Given the description of an element on the screen output the (x, y) to click on. 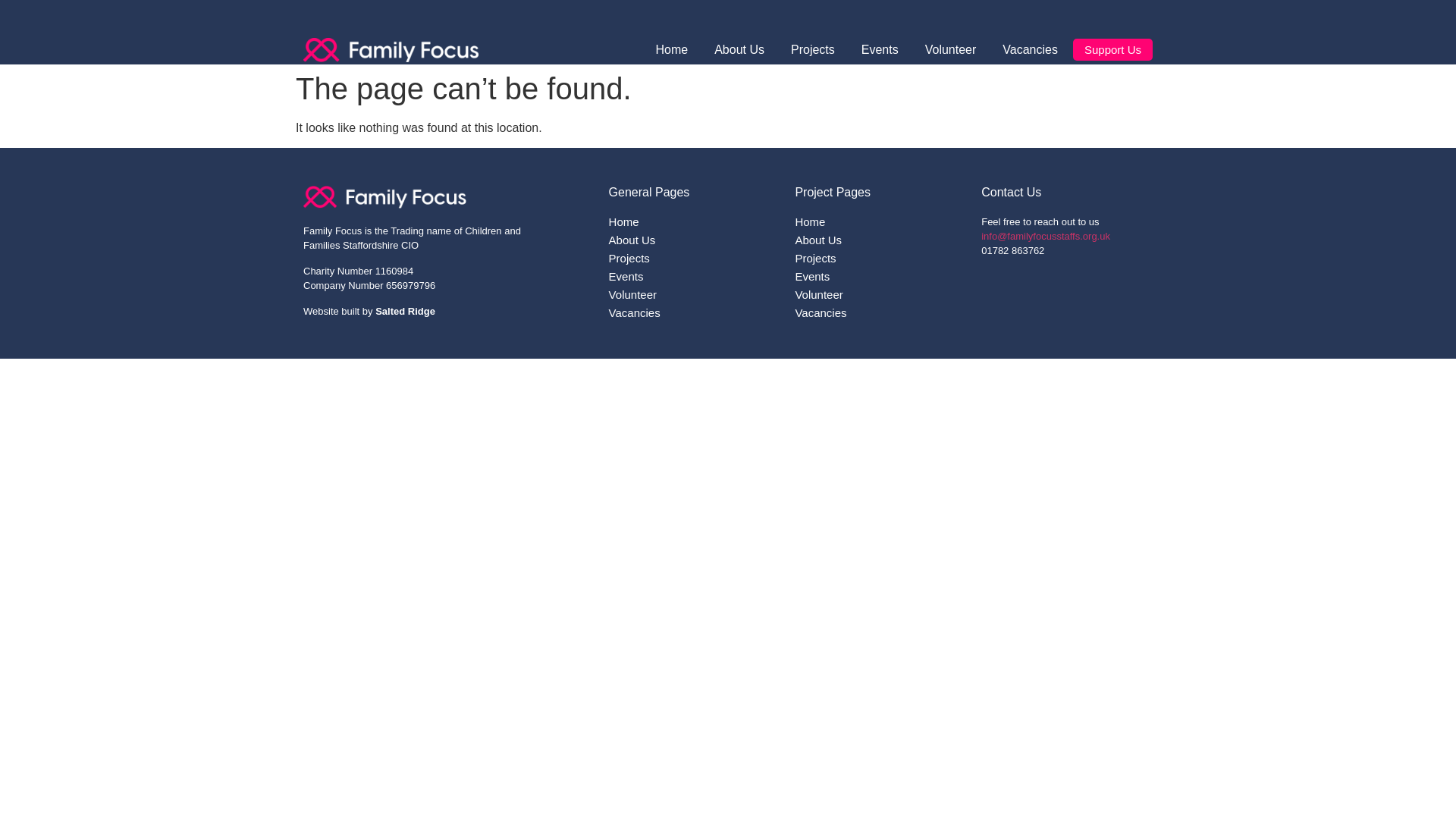
About Us (739, 49)
Volunteer (950, 49)
Home (671, 49)
Volunteer (694, 294)
Vacancies (880, 313)
About Us (880, 240)
Projects (880, 258)
Projects (694, 258)
Support Us (1113, 49)
Vacancies (1030, 49)
